Given the description of an element on the screen output the (x, y) to click on. 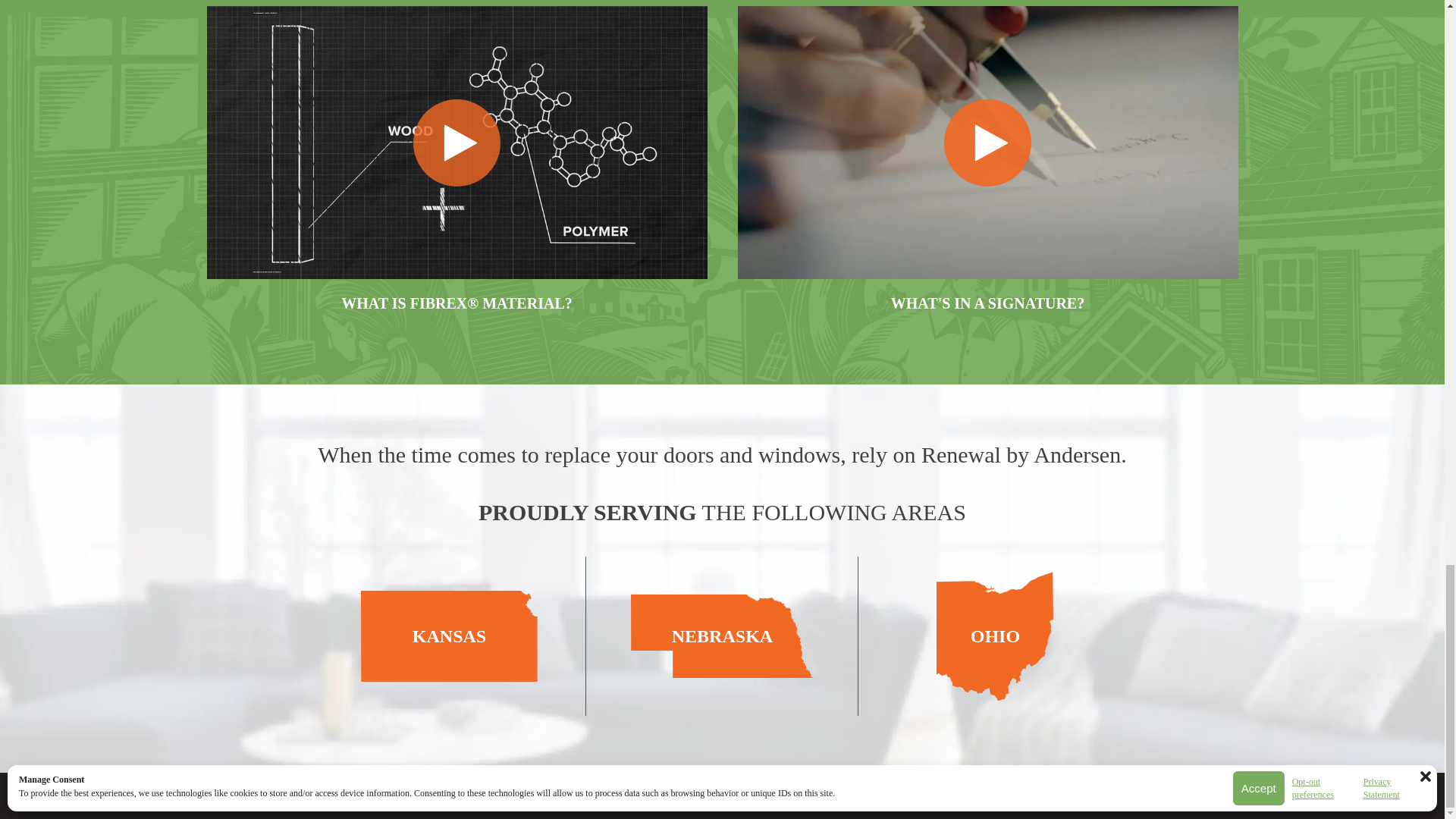
877.806.8007 (845, 795)
KANSAS (449, 635)
NEBRASKA (722, 636)
Privacy Policy (986, 795)
OHIO (994, 636)
Opt-out preferences (913, 795)
